Given the description of an element on the screen output the (x, y) to click on. 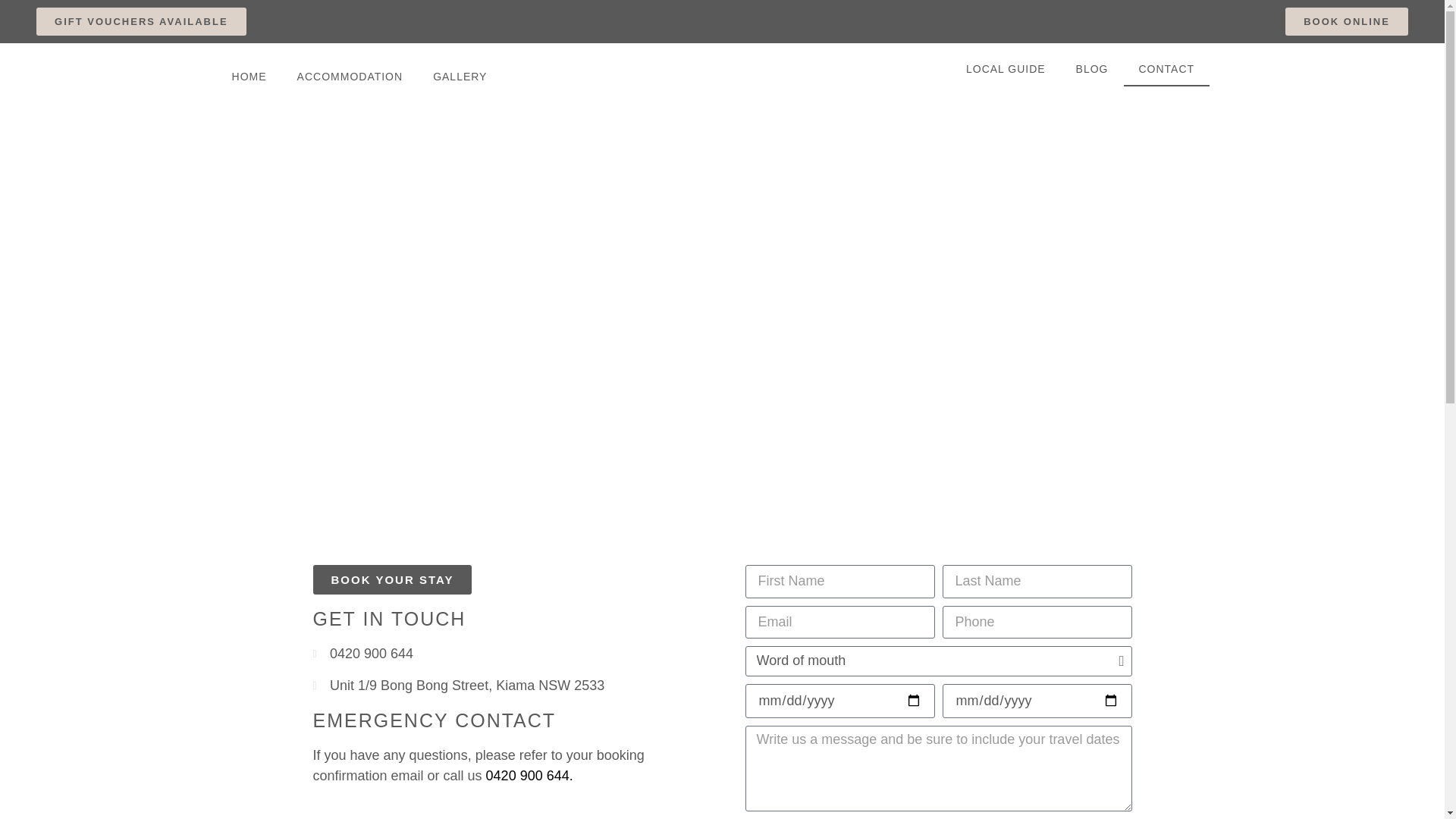
GALLERY Element type: text (459, 76)
0420 900 644 Element type: text (527, 775)
HOME Element type: text (249, 76)
CONTACT Element type: text (1166, 68)
LOCAL GUIDE Element type: text (1005, 68)
GIFT VOUCHERS AVAILABLE Element type: text (140, 21)
0420 900 644 Element type: text (505, 653)
Unit 1/9 Bong Bong Street, Kiama NSW 2533 Element type: text (505, 685)
BOOK YOUR STAY Element type: text (391, 579)
ACCOMMODATION Element type: text (350, 76)
BLOG Element type: text (1091, 68)
BOOK ONLINE Element type: text (1346, 21)
